Given the description of an element on the screen output the (x, y) to click on. 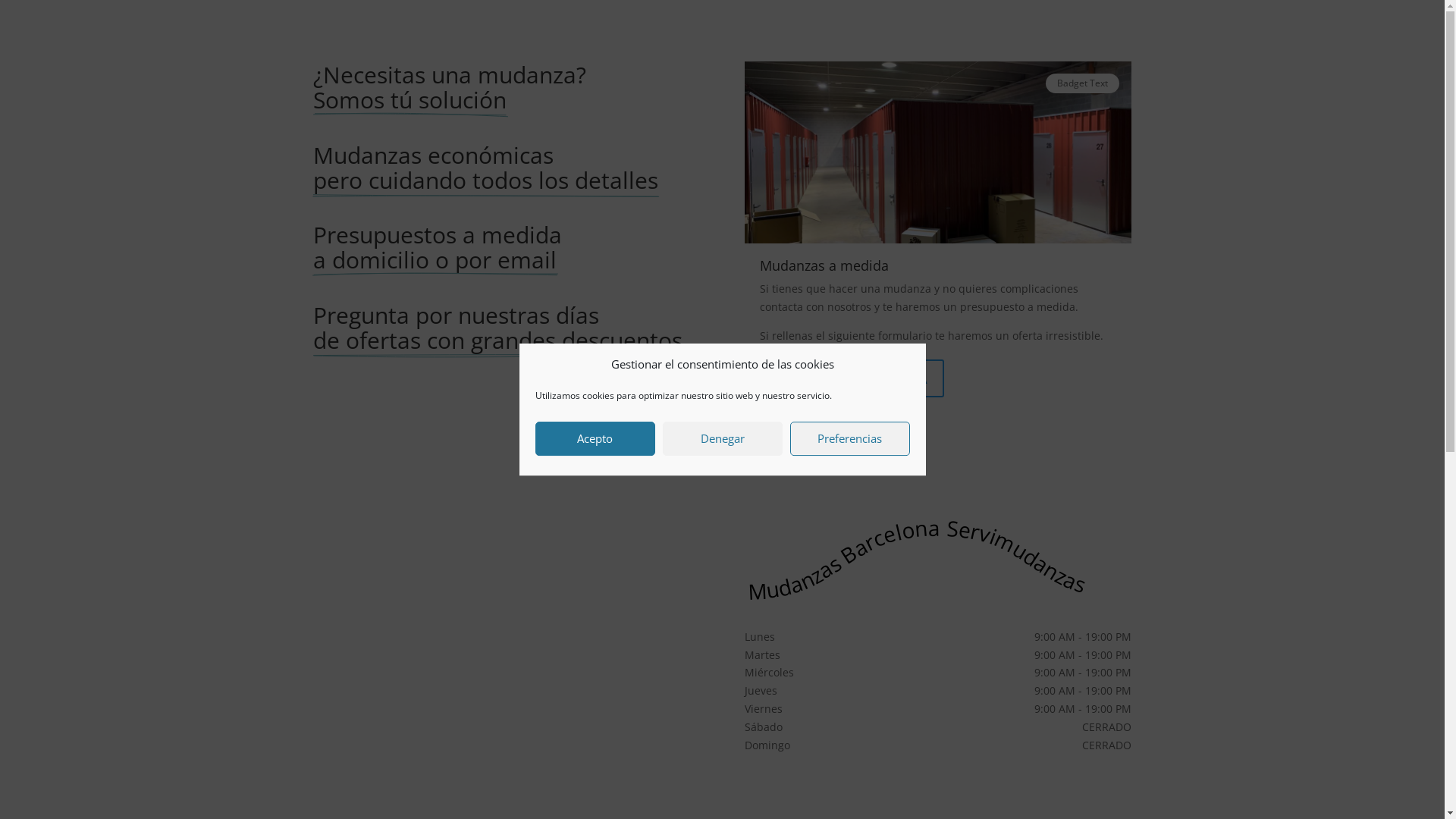
Denegar Element type: text (722, 438)
Acepto Element type: text (595, 438)
Preferencias Element type: text (850, 438)
RECLAMA TU OFERTA Element type: text (851, 378)
